Given the description of an element on the screen output the (x, y) to click on. 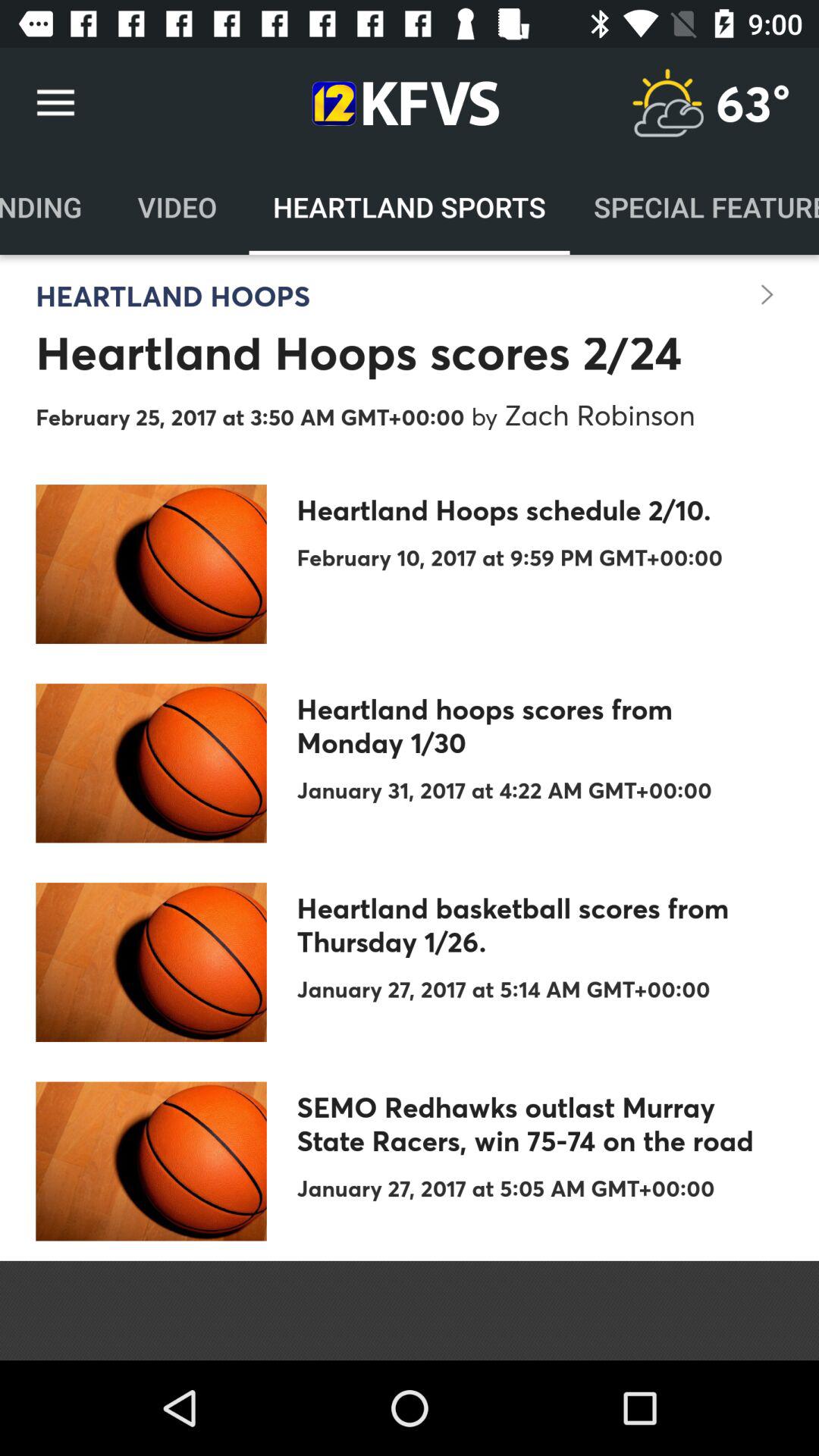
cloud and sun icon for the weather (667, 103)
